Given the description of an element on the screen output the (x, y) to click on. 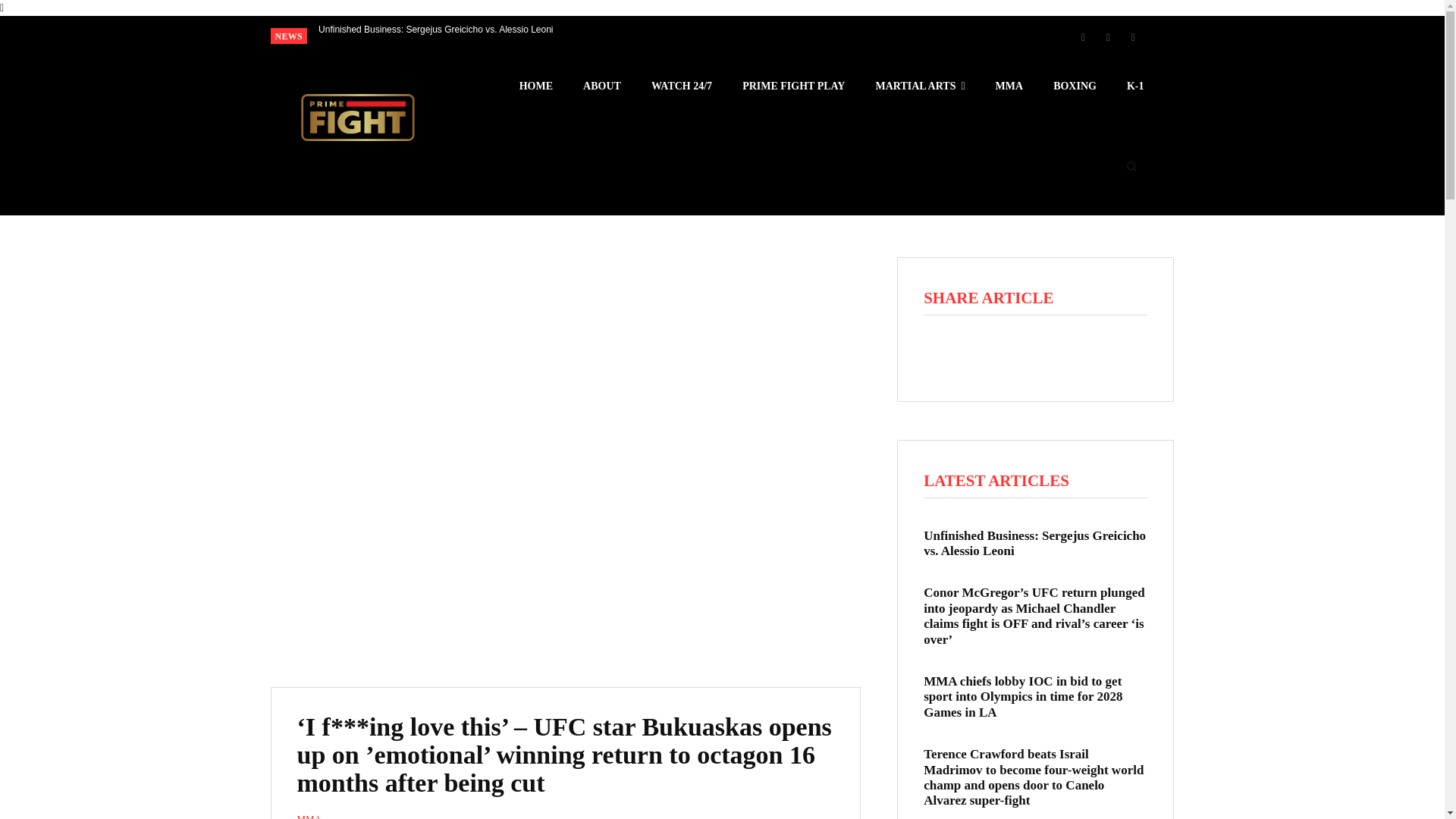
Unfinished Business: Sergejus Greicicho vs. Alessio Leoni (435, 29)
MARTIAL ARTS (919, 86)
Facebook (1082, 35)
PRIME FIGHT PLAY (793, 86)
Unfinished Business: Sergejus Greicicho vs. Alessio Leoni (435, 29)
